Given the description of an element on the screen output the (x, y) to click on. 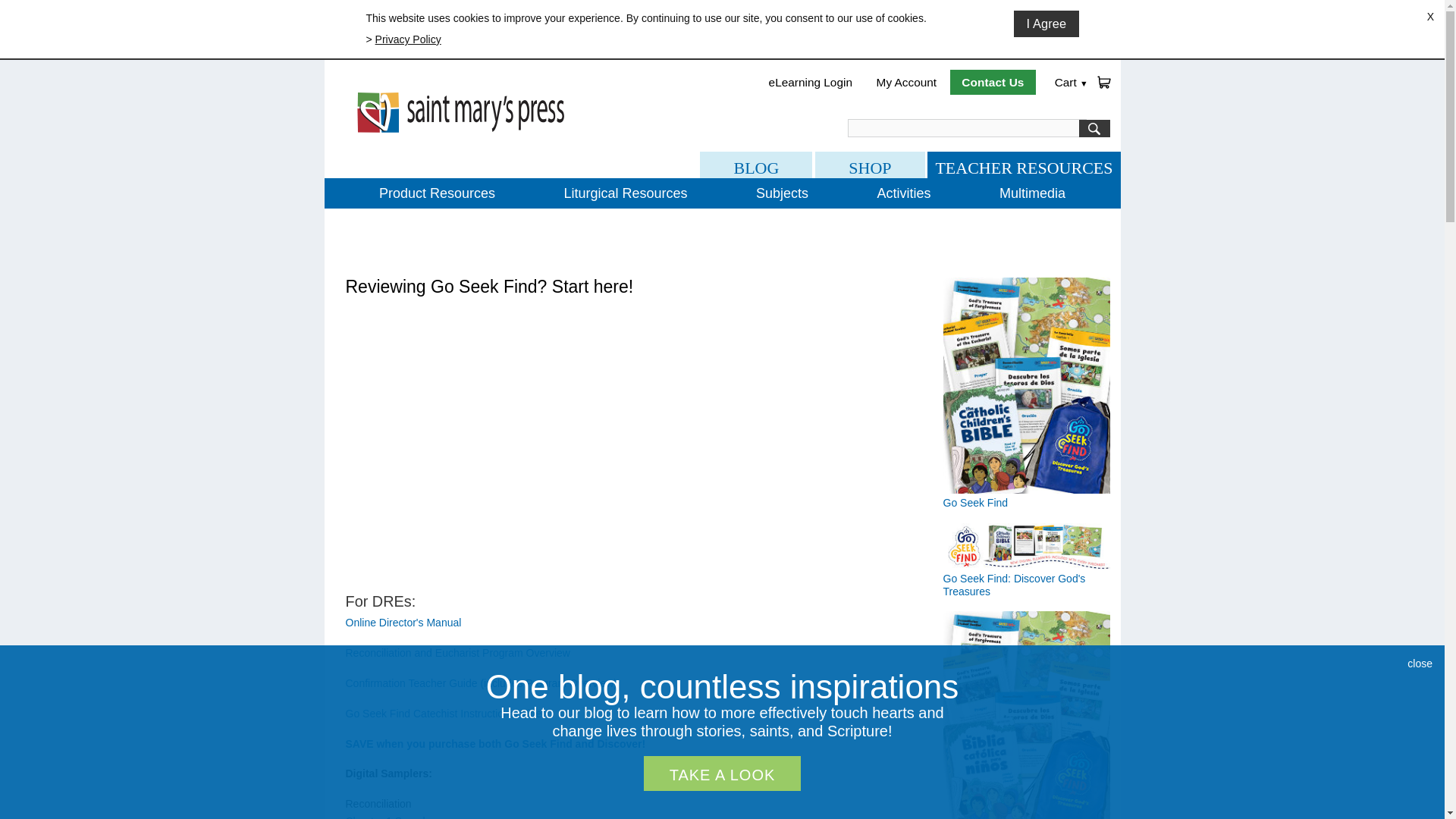
eLearning Login (810, 82)
TEACHER RESOURCES (1023, 164)
YouTube video player (558, 446)
SHOP (869, 164)
BLOG (756, 164)
My Account (906, 82)
I Agree (1045, 23)
Product Resources (436, 193)
Privacy Policy (408, 39)
Contact Us (992, 81)
